Given the description of an element on the screen output the (x, y) to click on. 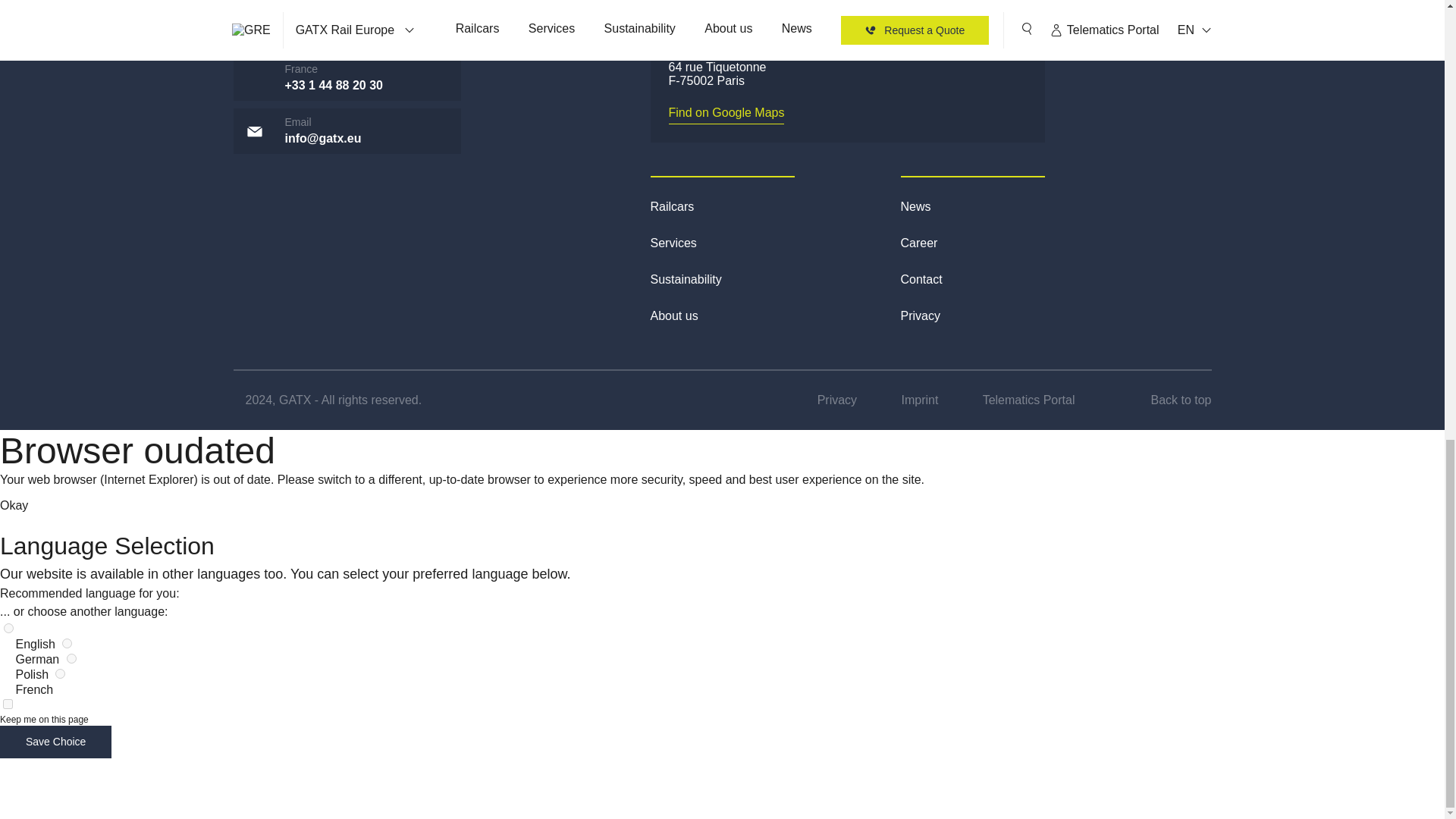
de (66, 643)
on (7, 704)
en (8, 628)
fr (60, 673)
pl (71, 658)
